Given the description of an element on the screen output the (x, y) to click on. 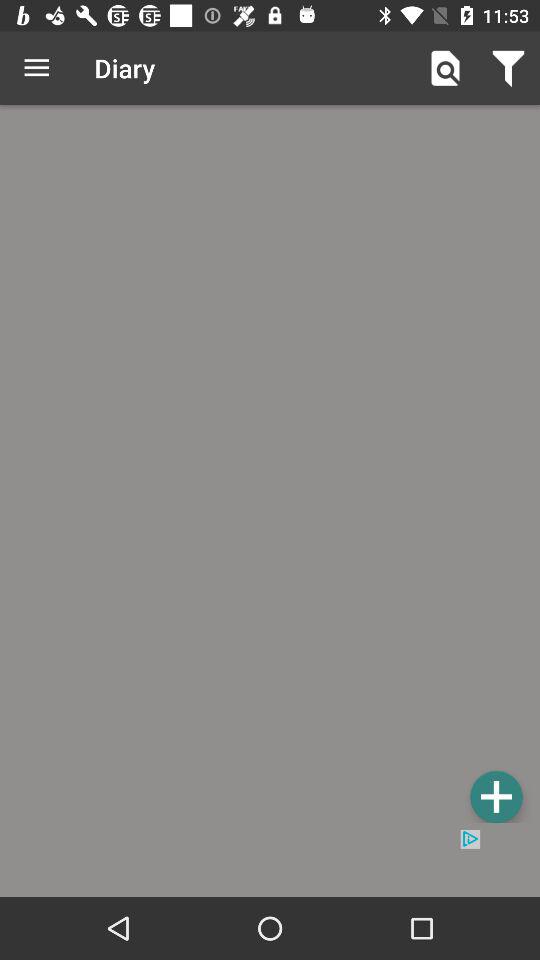
turn on the item to the left of diary item (36, 68)
